Given the description of an element on the screen output the (x, y) to click on. 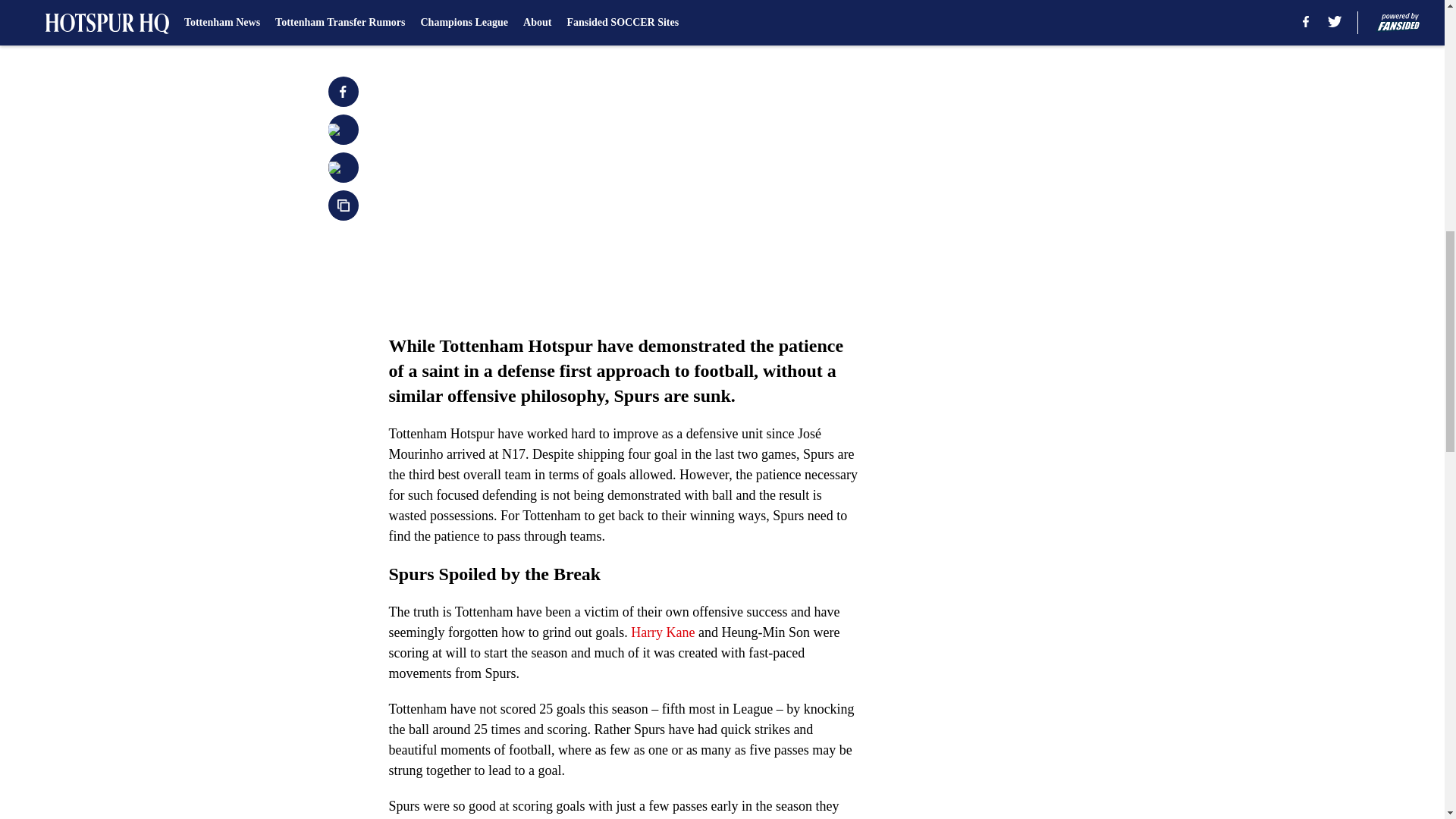
Harry Kane (662, 631)
